Given the description of an element on the screen output the (x, y) to click on. 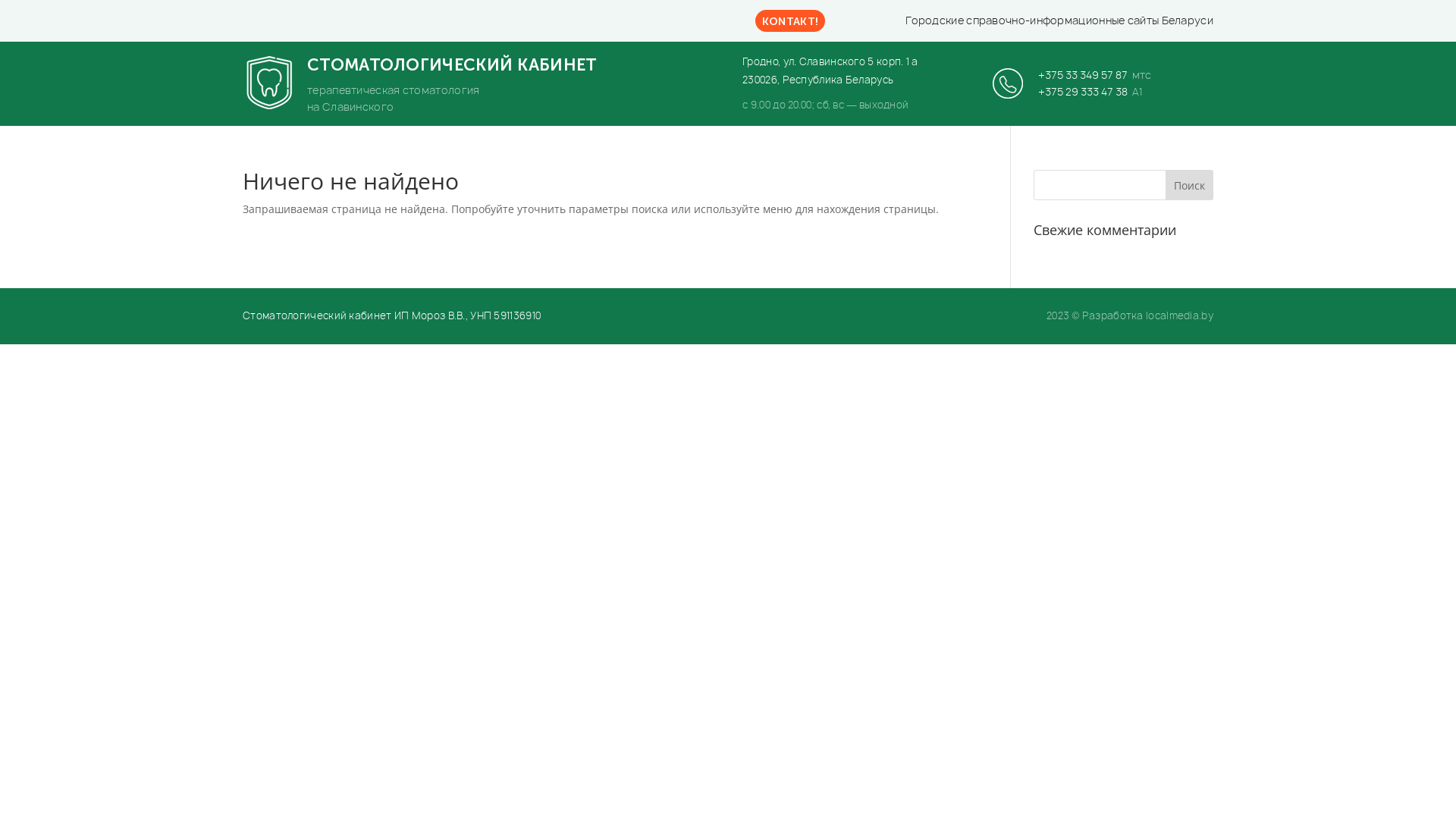
+375 33 349 57 87 Element type: text (1082, 74)
+375 29 333 47 38 Element type: text (1082, 91)
